Given the description of an element on the screen output the (x, y) to click on. 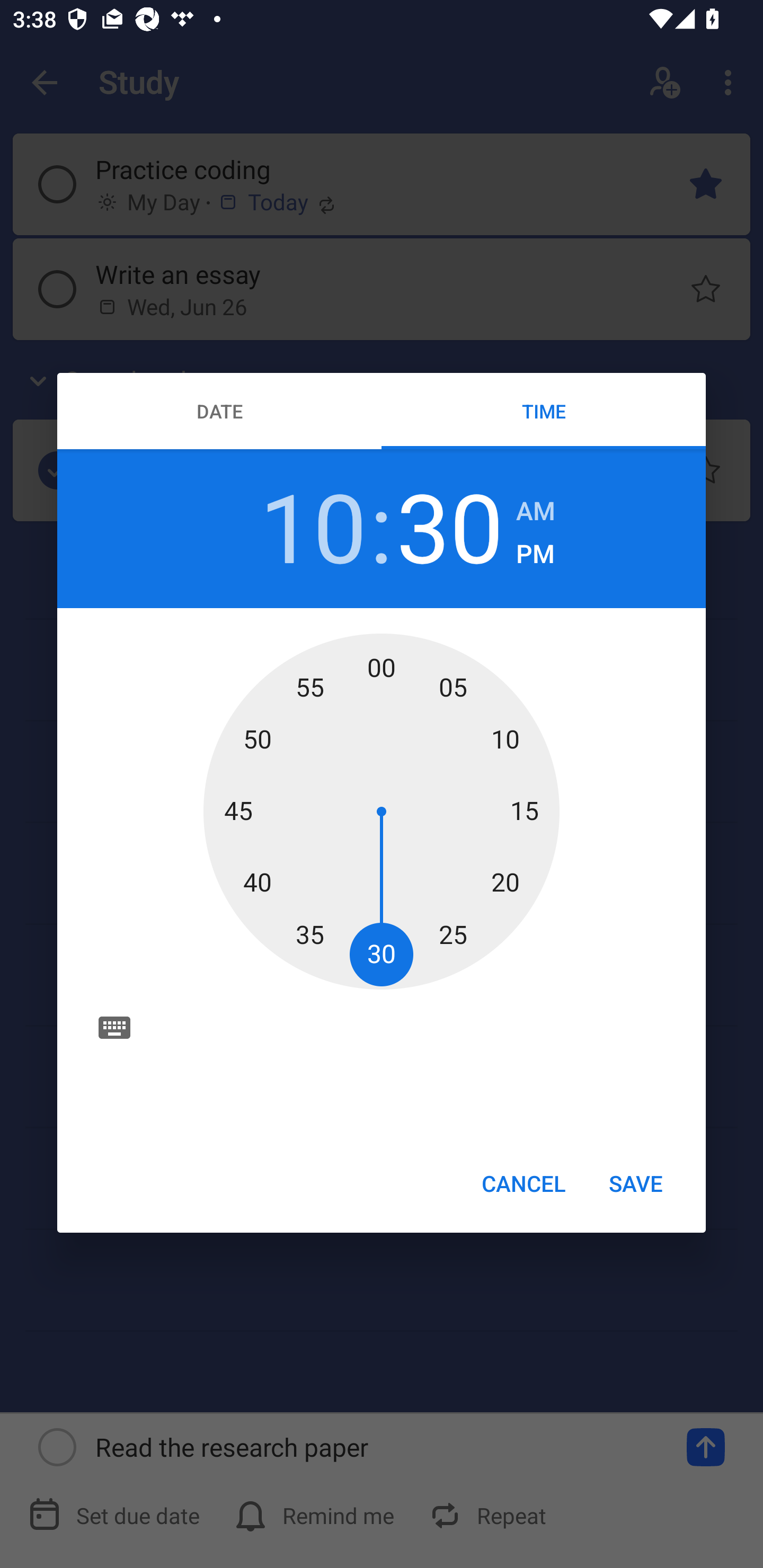
SAVE (635, 1182)
